Given the description of an element on the screen output the (x, y) to click on. 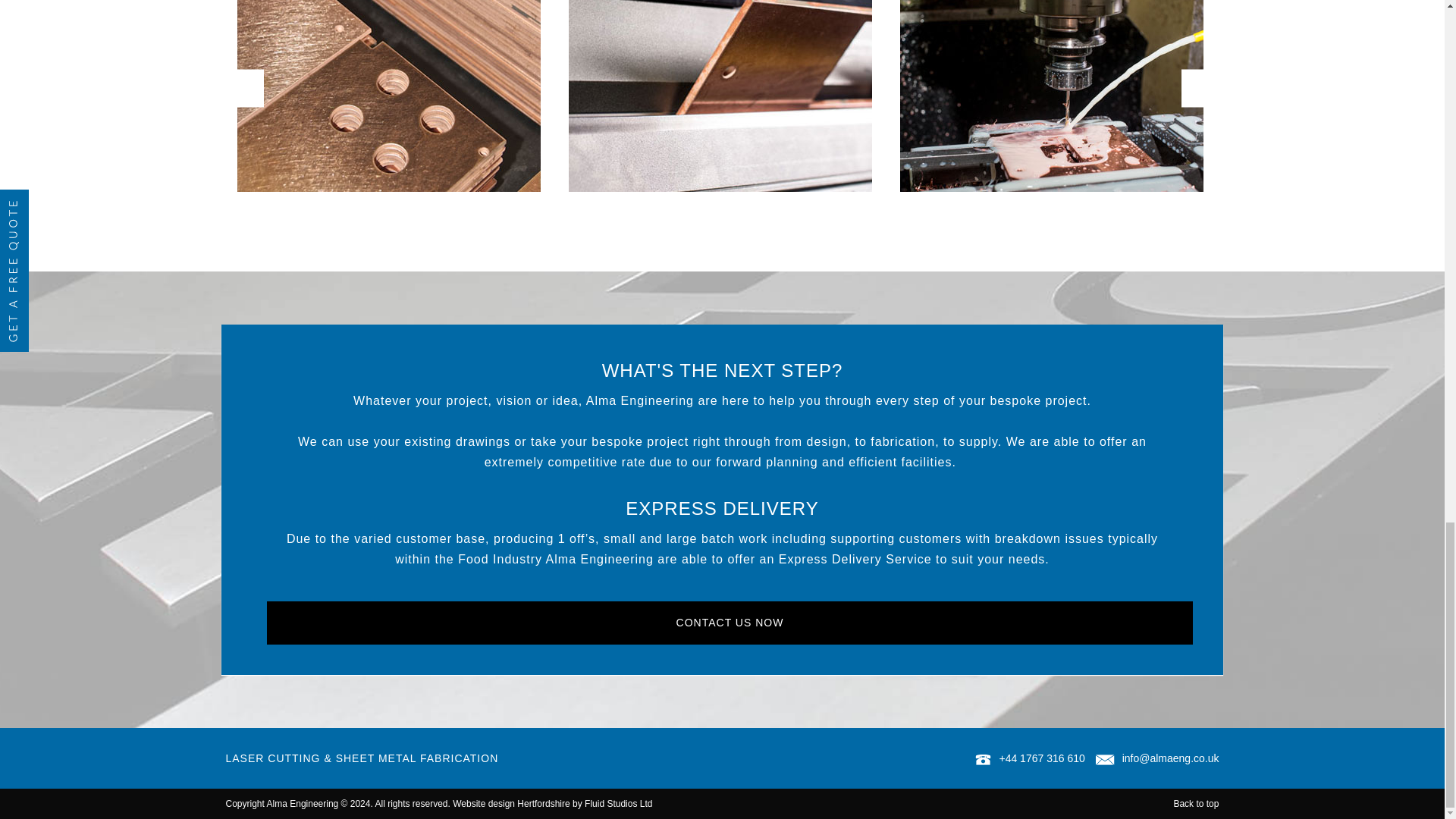
CONTACT US NOW (730, 622)
Website design Hertfordshire (511, 803)
